Given the description of an element on the screen output the (x, y) to click on. 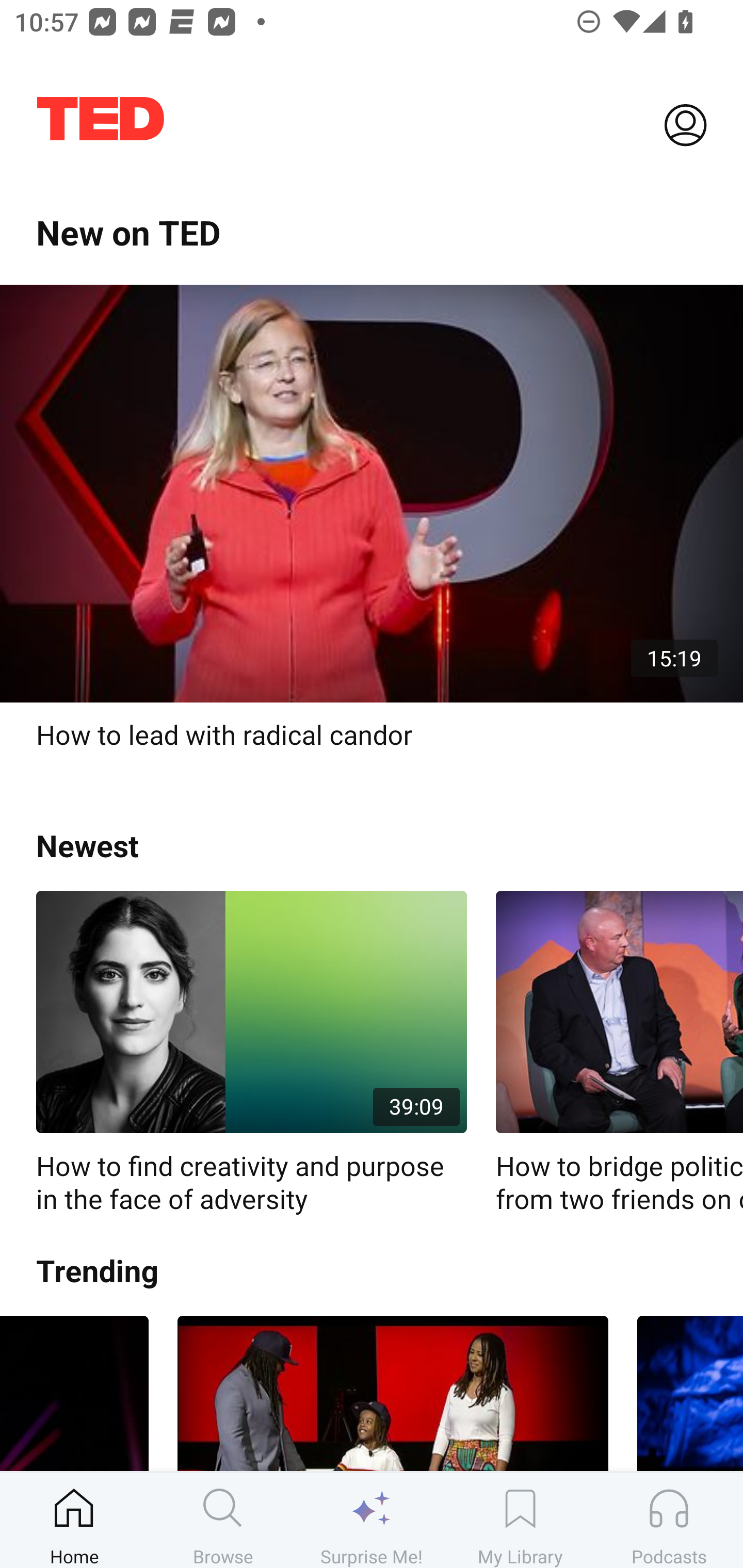
Home (74, 1520)
Browse (222, 1520)
Surprise Me! (371, 1520)
My Library (519, 1520)
Podcasts (668, 1520)
